Given the description of an element on the screen output the (x, y) to click on. 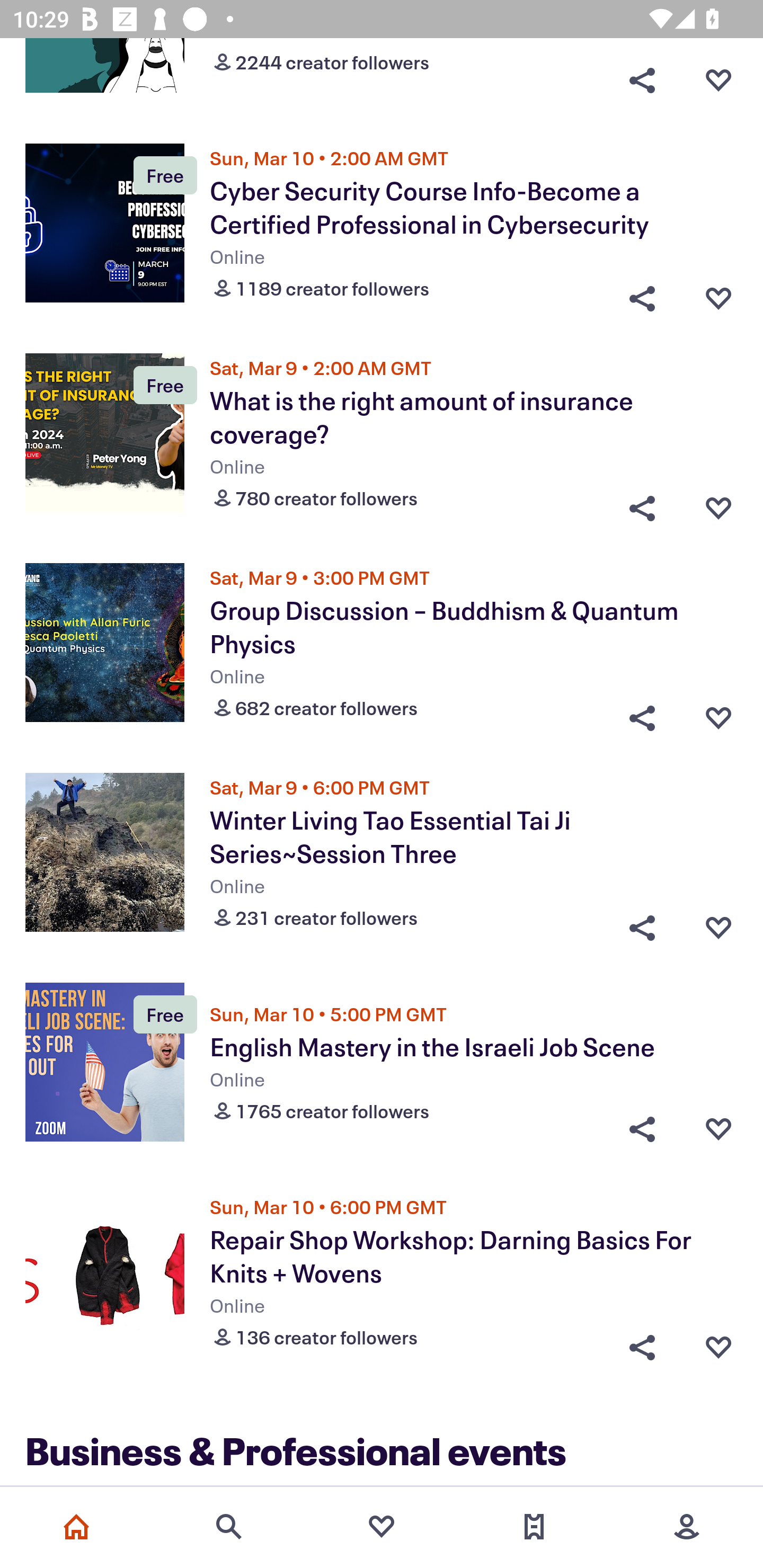
Share button (642, 79)
Favorite button (718, 79)
Share button (642, 293)
Favorite button (718, 293)
Share button (642, 503)
Favorite button (718, 503)
Share button (642, 713)
Favorite button (718, 713)
Share button (642, 923)
Favorite button (718, 923)
Share button (642, 1128)
Favorite button (718, 1128)
Share button (642, 1342)
Favorite button (718, 1342)
Home (76, 1526)
Search events (228, 1526)
Favorites (381, 1526)
Tickets (533, 1526)
More (686, 1526)
